Given the description of an element on the screen output the (x, y) to click on. 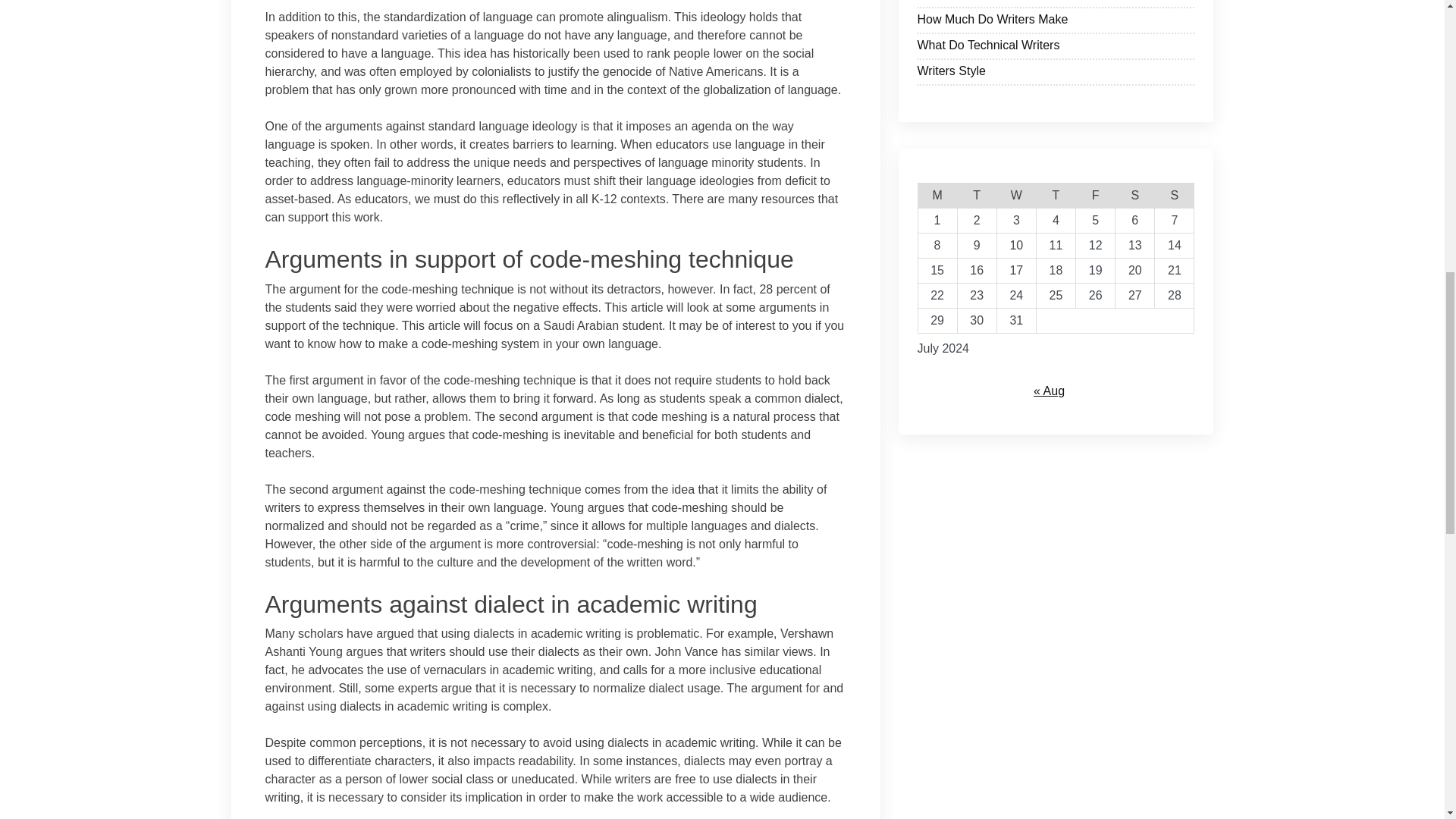
Famous Writers (1056, 3)
What Do Technical Writers (1056, 47)
Monday (936, 195)
Wednesday (1015, 195)
How Much Do Writers Make (1056, 21)
Thursday (1055, 195)
Saturday (1134, 195)
Writers Style (1056, 73)
Friday (1095, 195)
Tuesday (975, 195)
Sunday (1173, 195)
